Given the description of an element on the screen output the (x, y) to click on. 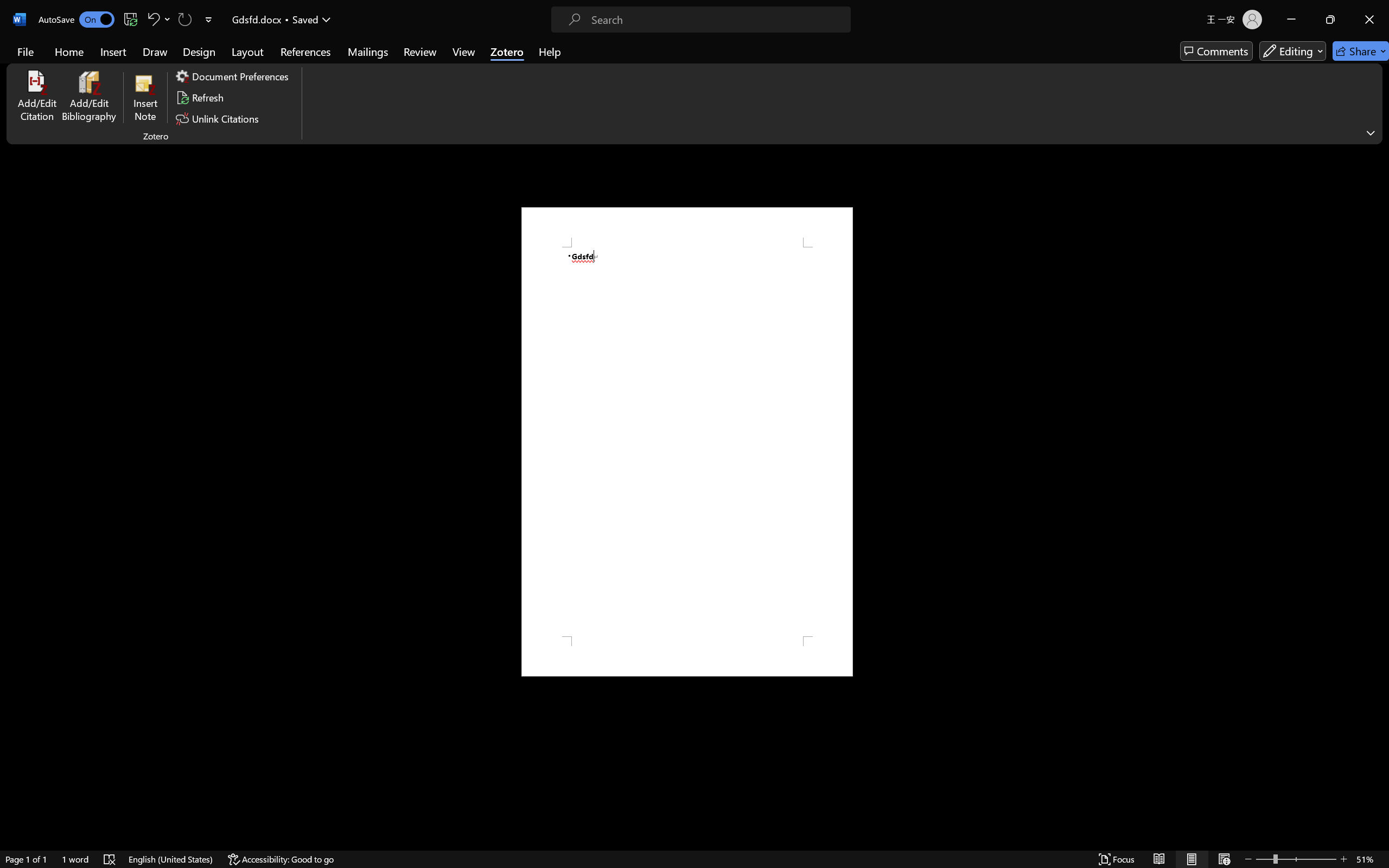
Page 1 content (686, 441)
